Given the description of an element on the screen output the (x, y) to click on. 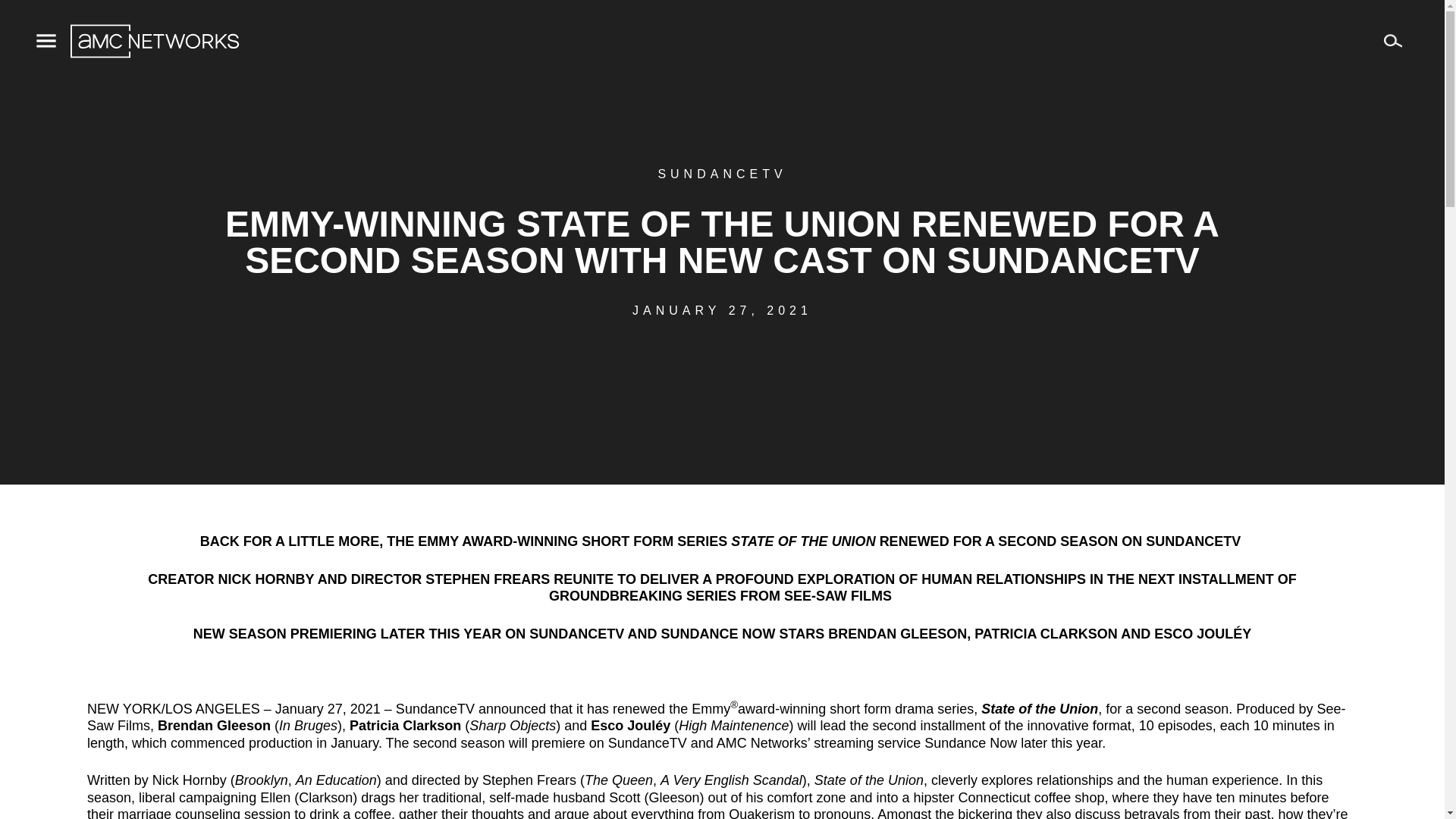
SUNDANCETV (722, 173)
AMC Networks (153, 41)
